Given the description of an element on the screen output the (x, y) to click on. 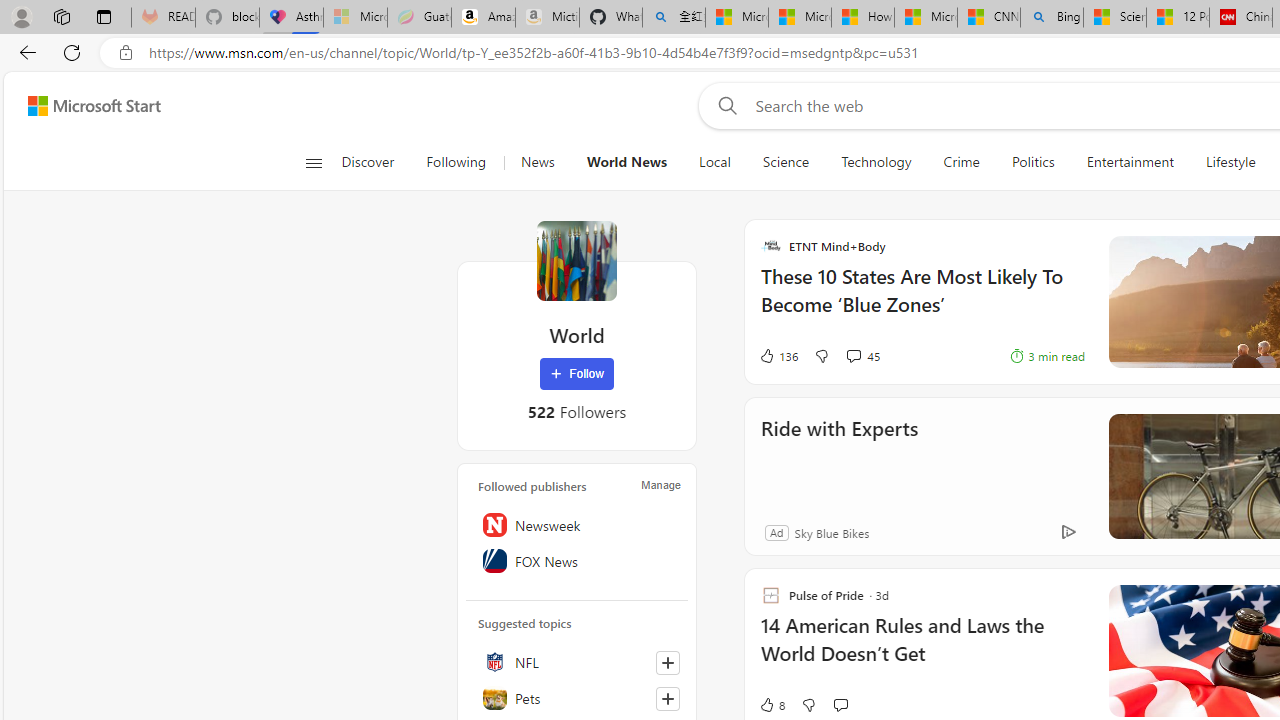
Bing (1051, 17)
Sky Blue Bikes (831, 532)
Ride with Experts (838, 455)
Follow (577, 373)
136 Like (778, 355)
